Given the description of an element on the screen output the (x, y) to click on. 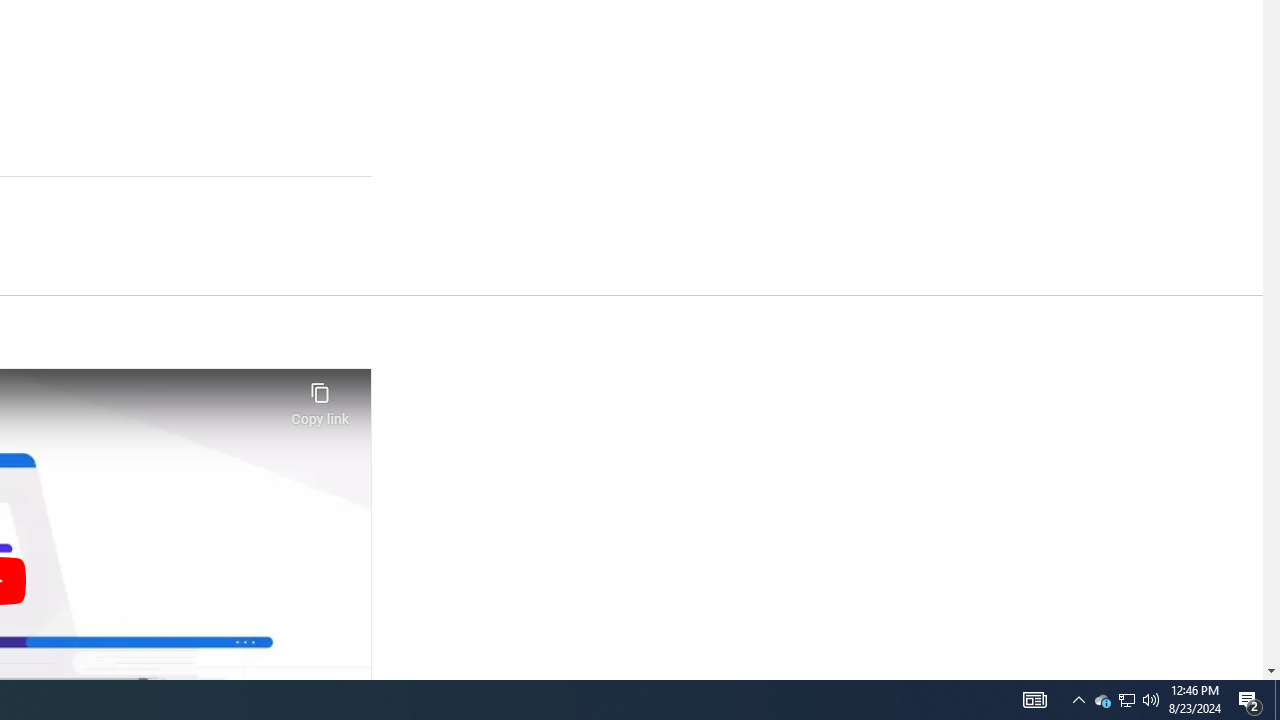
Copy link (319, 398)
